Given the description of an element on the screen output the (x, y) to click on. 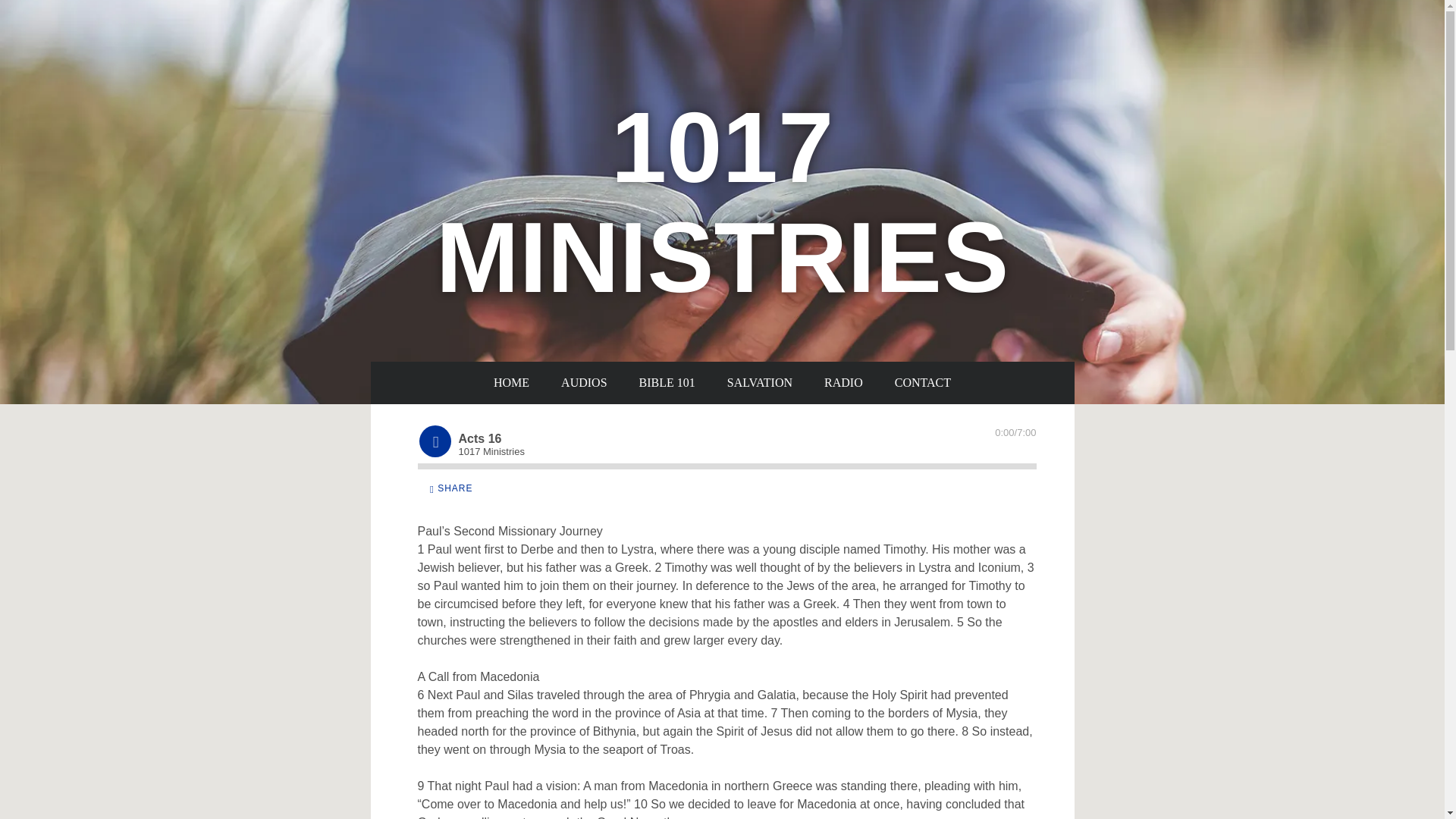
Share Acts 16 (450, 488)
RADIO (843, 382)
HOME (511, 382)
1017 MINISTRIES (721, 284)
SHARE (450, 488)
BIBLE 101 (667, 382)
SALVATION (759, 382)
AUDIOS (583, 382)
CONTACT (922, 382)
